Given the description of an element on the screen output the (x, y) to click on. 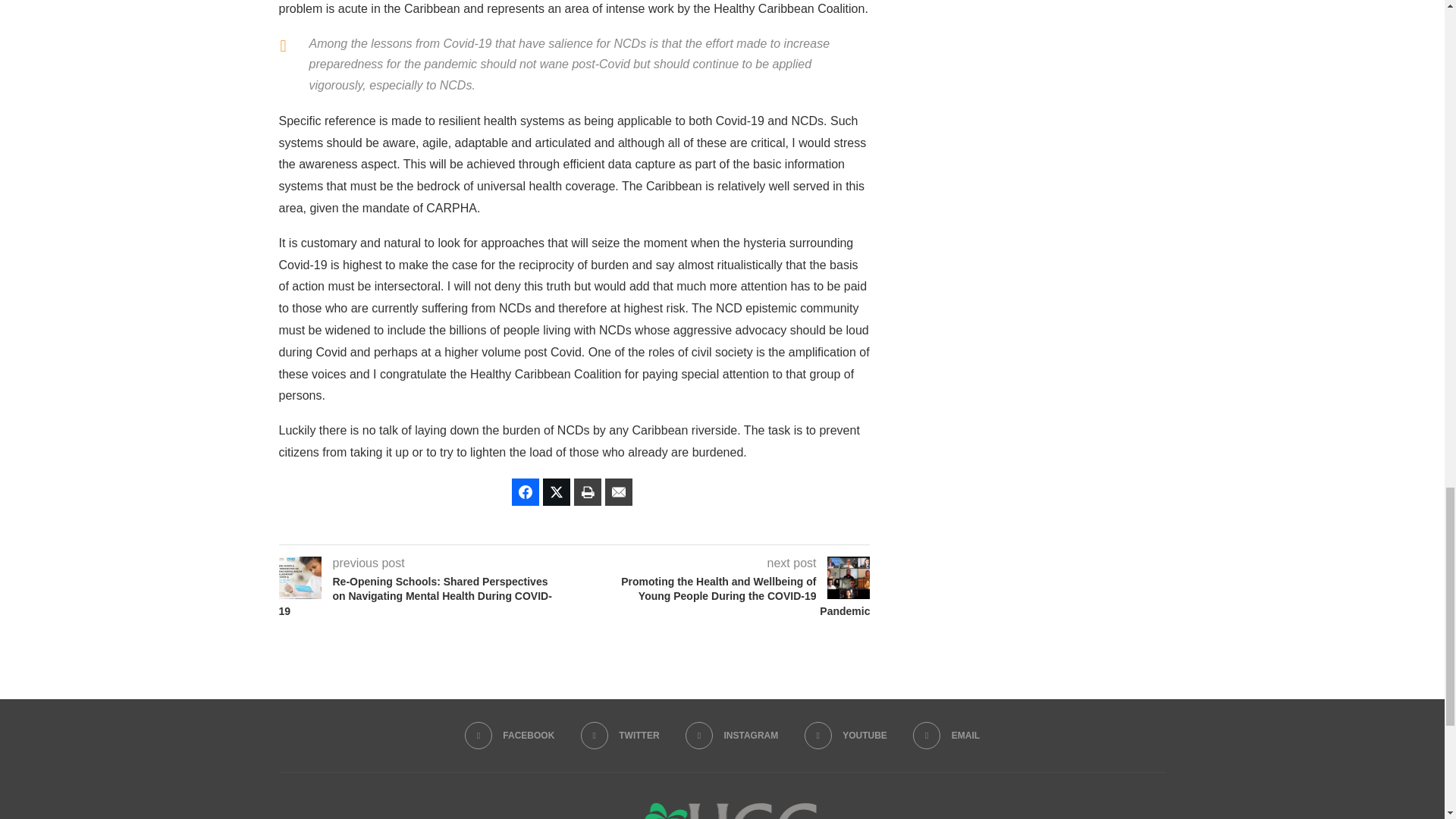
Share on Twitter (556, 492)
Share on Email (618, 492)
Share on Facebook (525, 492)
Share on Print (587, 492)
